Given the description of an element on the screen output the (x, y) to click on. 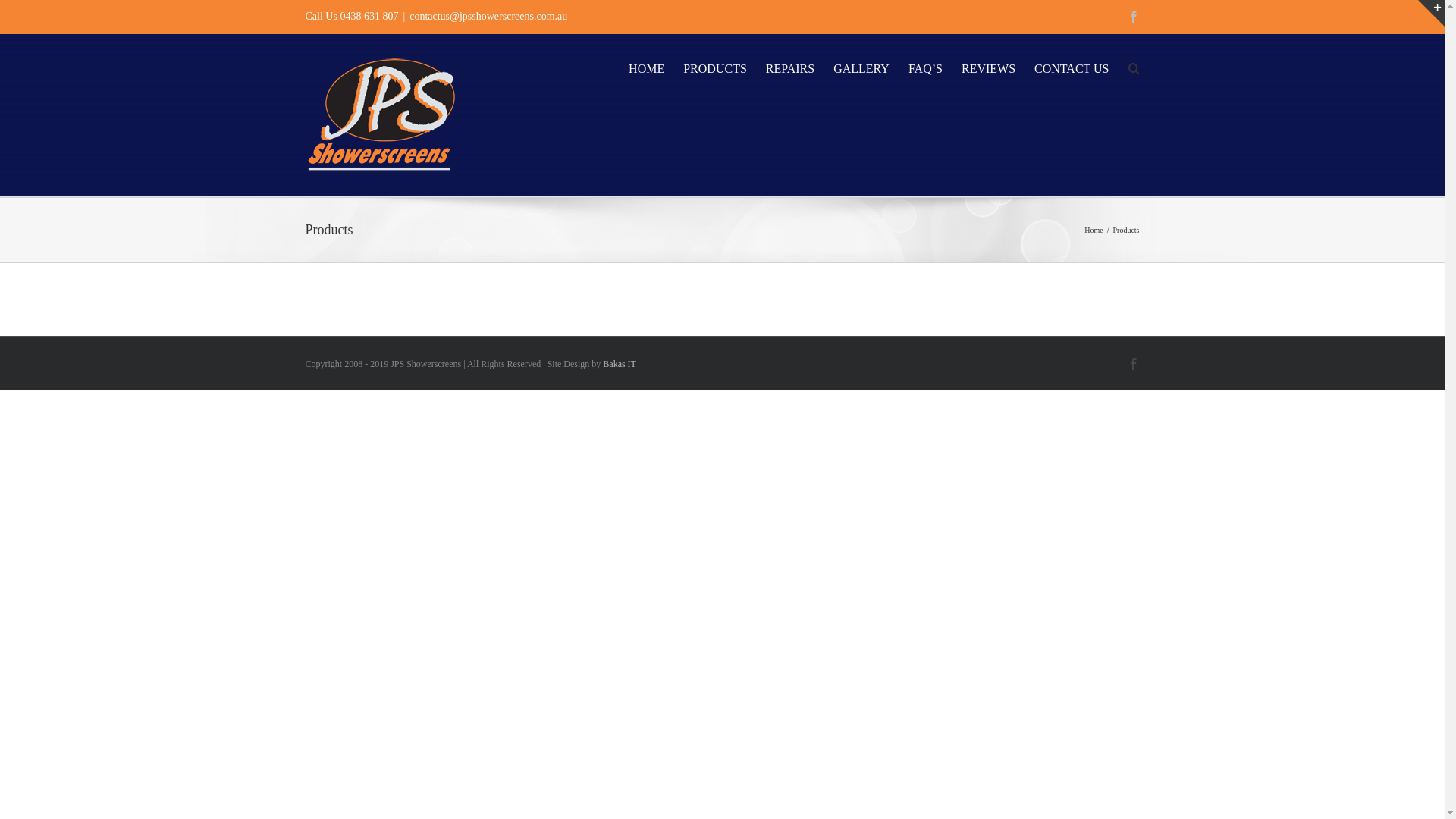
contactus@jpsshowerscreens.com.au Element type: text (488, 15)
HOME Element type: text (646, 67)
GALLERY Element type: text (861, 67)
Facebook Element type: text (1132, 363)
REPAIRS Element type: text (789, 67)
PRODUCTS Element type: text (714, 67)
Home Element type: text (1093, 229)
REVIEWS Element type: text (988, 67)
Bakas IT Element type: text (619, 363)
CONTACT US Element type: text (1071, 67)
Facebook Element type: text (1133, 16)
